Given the description of an element on the screen output the (x, y) to click on. 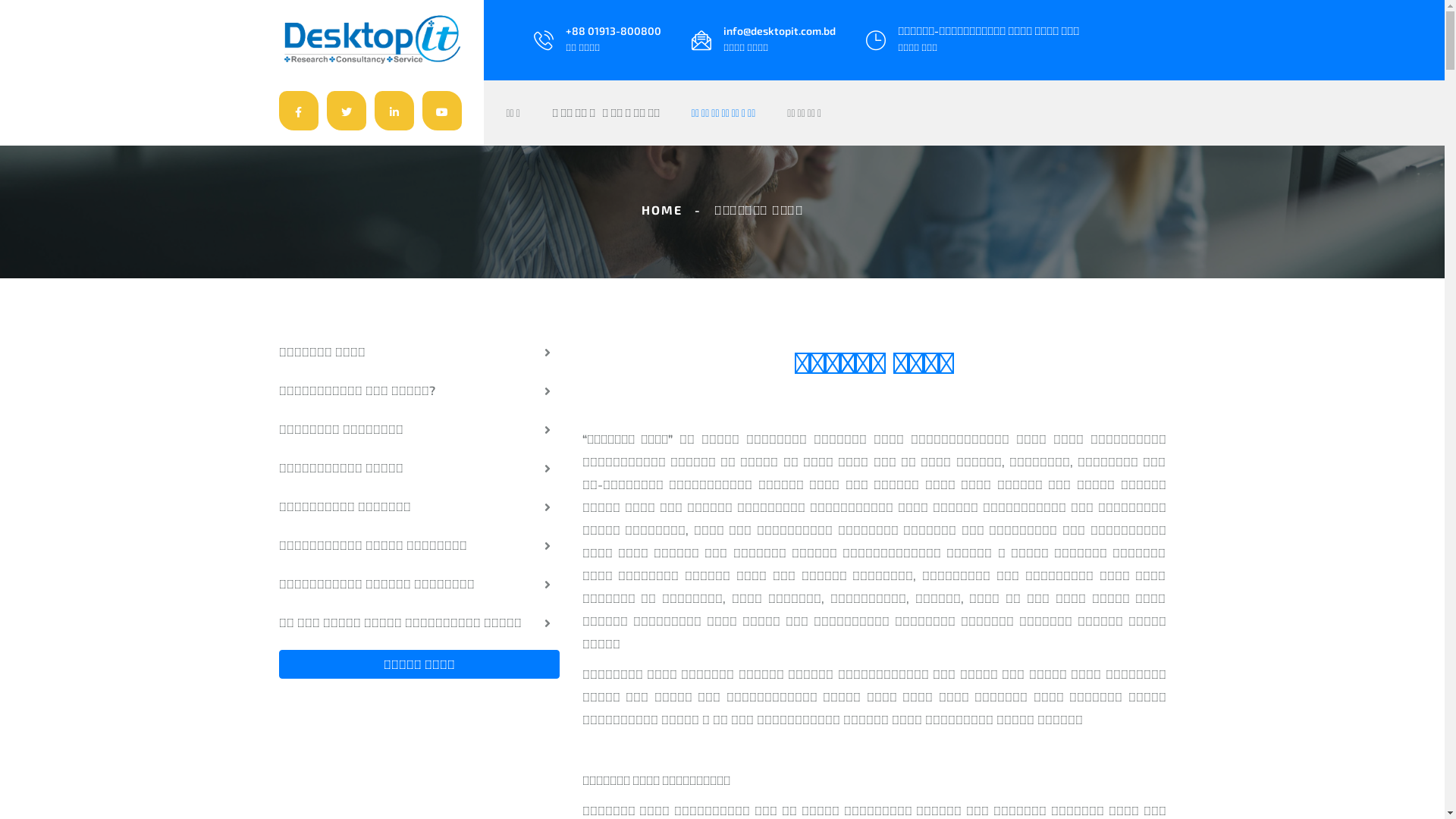
HOME Element type: text (661, 209)
